Given the description of an element on the screen output the (x, y) to click on. 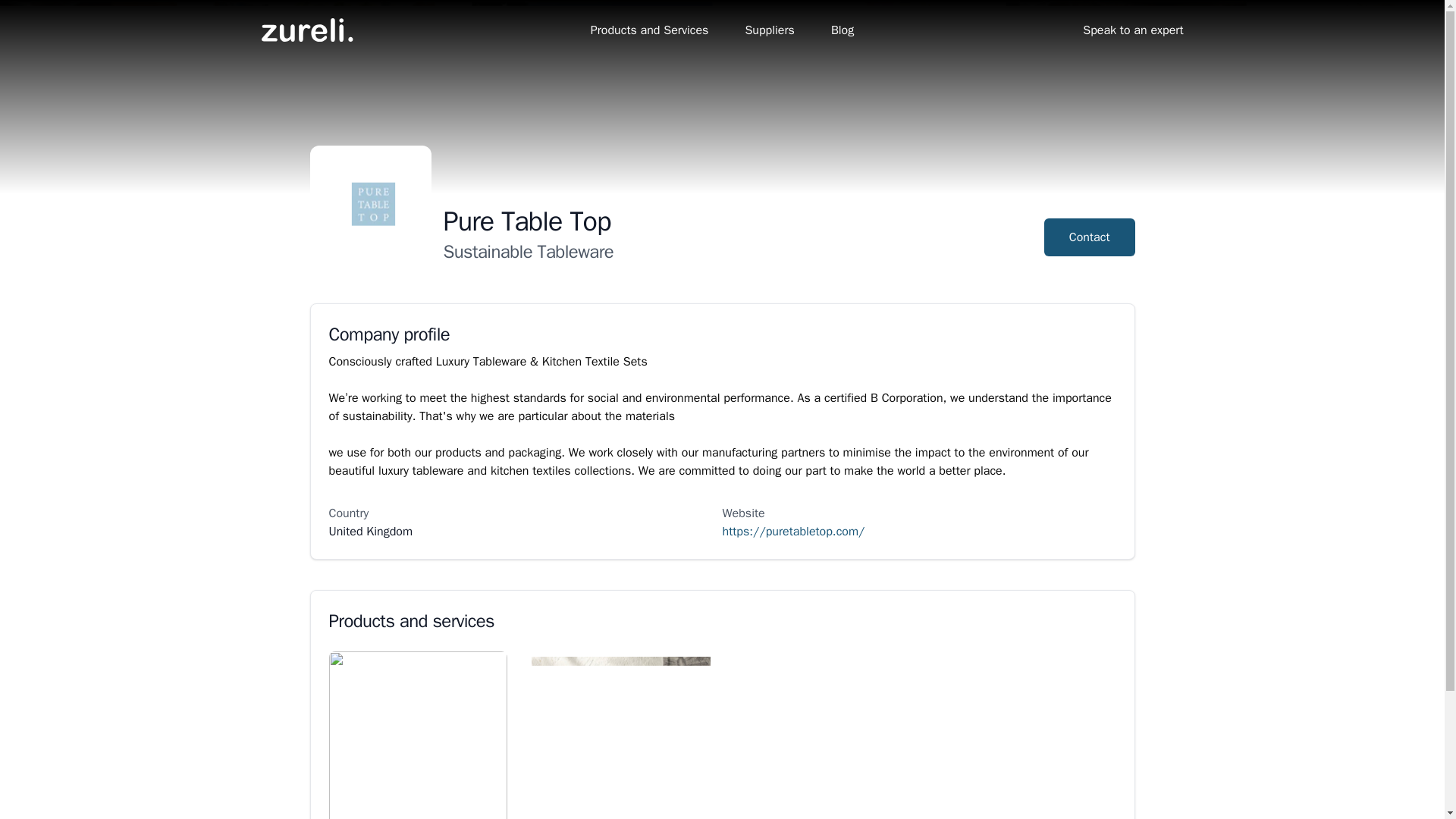
Speak to an expert (1132, 30)
Zureli (307, 29)
Products and Services (650, 30)
Blog (842, 30)
Dinnerware (418, 735)
Contact (1089, 237)
Dinnerware (620, 735)
Suppliers (768, 30)
